Given the description of an element on the screen output the (x, y) to click on. 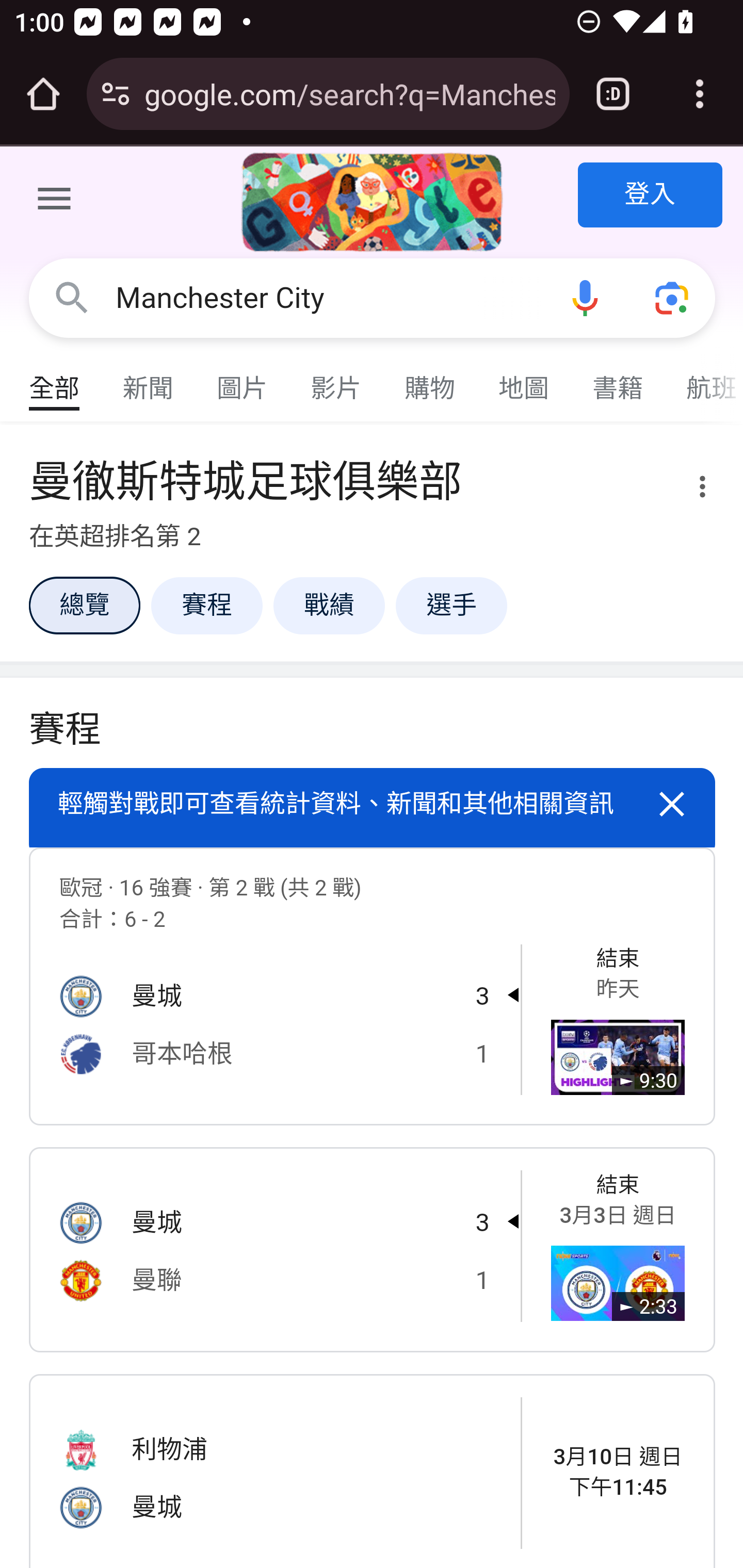
Open the home page (43, 93)
Connection is secure (115, 93)
Switch or close tabs (612, 93)
Customize and control Google Chrome (699, 93)
主選單 (54, 202)
登入 (650, 195)
Google 搜尋 (71, 296)
使用相機或相片搜尋 (672, 296)
Manchester City (328, 297)
新聞 (148, 378)
圖片 (242, 378)
影片 (336, 378)
購物 (430, 378)
地圖 (524, 378)
書籍 (618, 378)
航班 (703, 378)
更多選項 (690, 489)
總覽 (83, 605)
賽程 (206, 605)
戰績 (329, 605)
選手 (451, 605)
關閉 (672, 804)
